Given the description of an element on the screen output the (x, y) to click on. 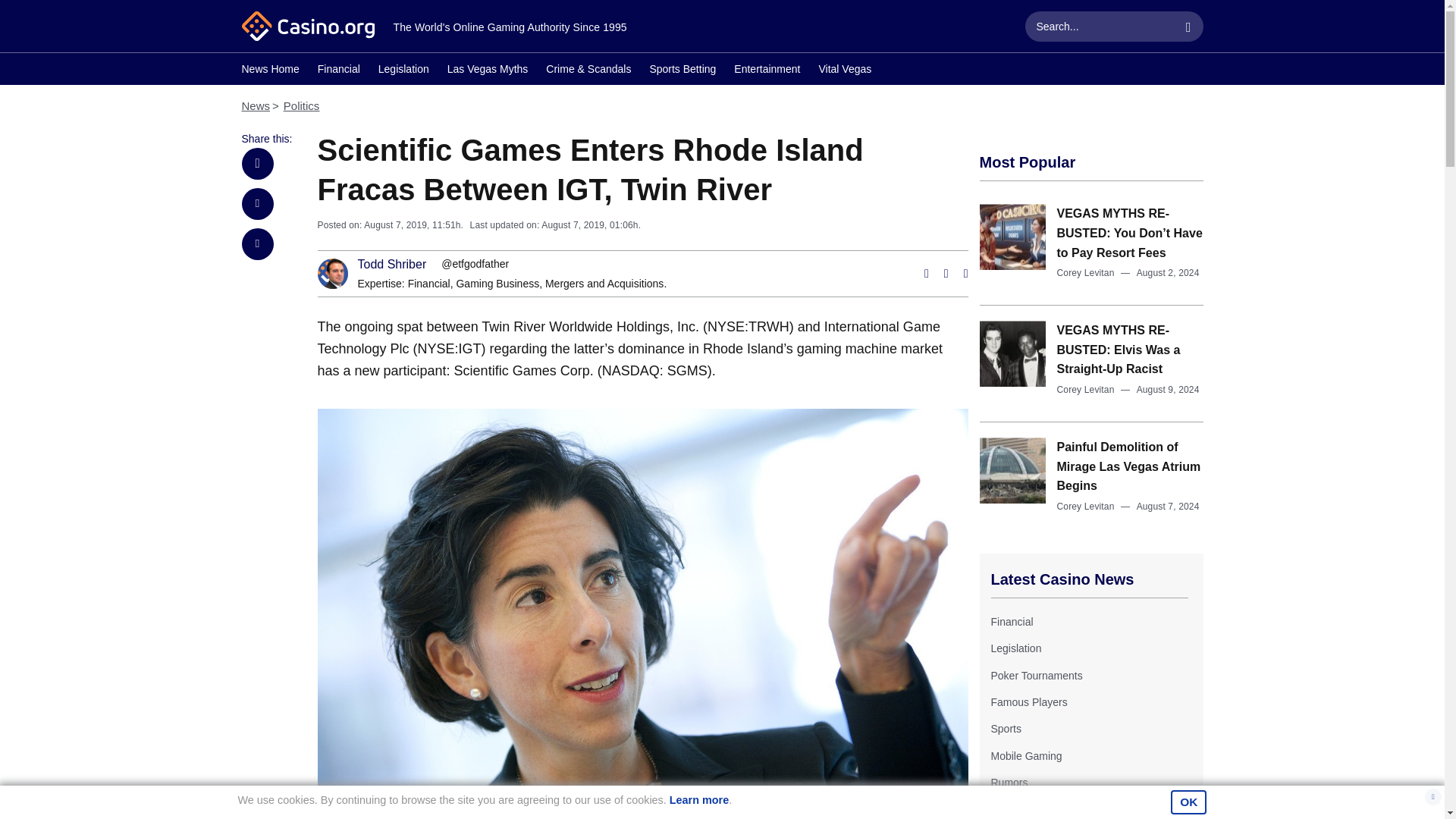
Todd Shriber (392, 264)
Financial (1011, 621)
Mergers and Acquisitions (603, 283)
Mobile Gaming (1025, 756)
Mergers and Acquisitions (603, 283)
Legislation (1015, 648)
Painful Demolition of Mirage Las Vegas Atrium Begins (1129, 466)
Financial (428, 283)
Sports (1005, 728)
Politics (301, 105)
